Given the description of an element on the screen output the (x, y) to click on. 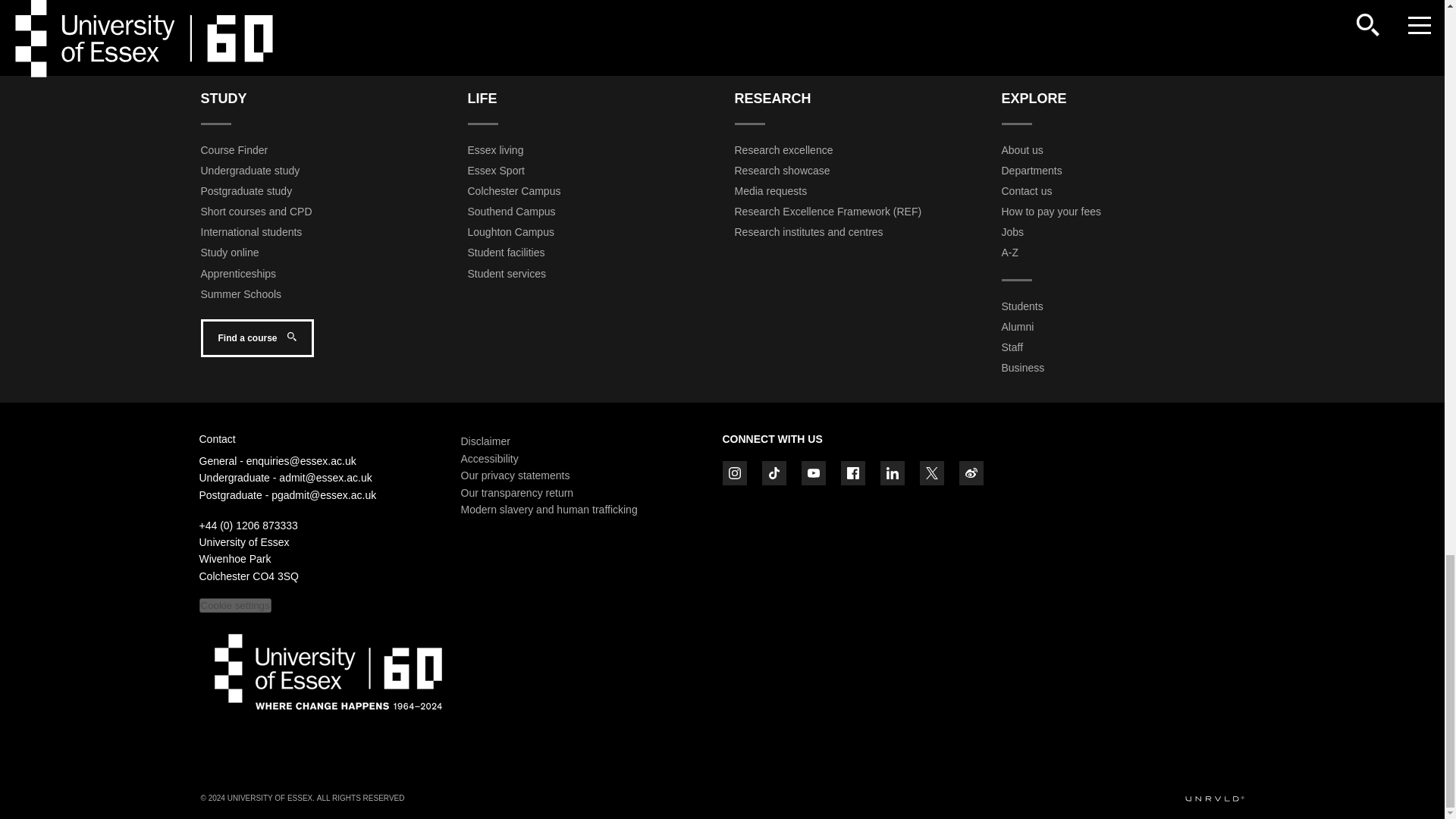
UNRVLD Digital Agency website (1214, 798)
